Given the description of an element on the screen output the (x, y) to click on. 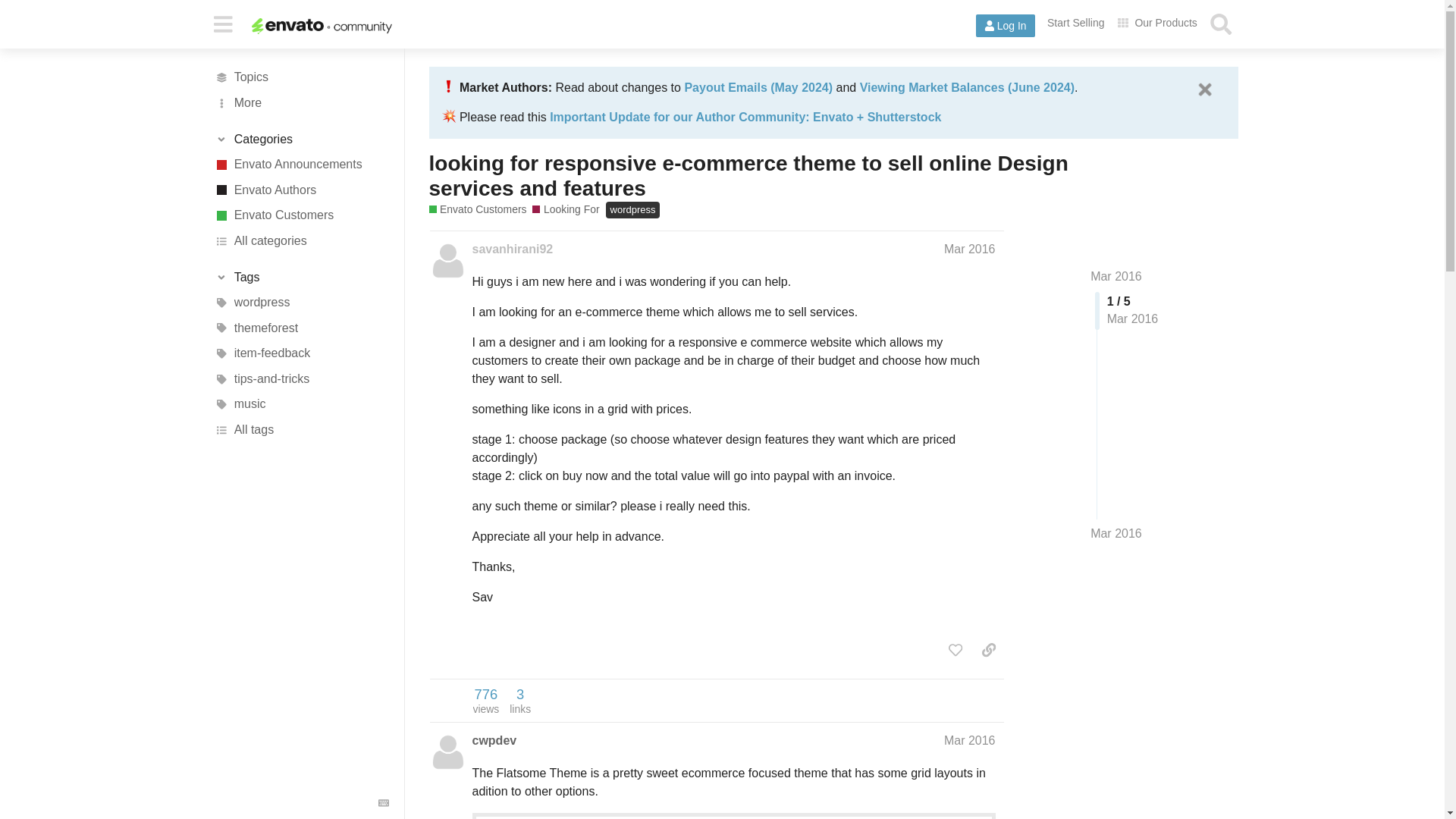
Tags (301, 277)
Toggle section (301, 277)
Search (1220, 23)
Our Products (1157, 22)
Keyboard Shortcuts (384, 802)
tips-and-tricks (301, 379)
Categories (301, 139)
item-feedback (301, 353)
Log In (1005, 25)
Mar 2016 (969, 248)
